Given the description of an element on the screen output the (x, y) to click on. 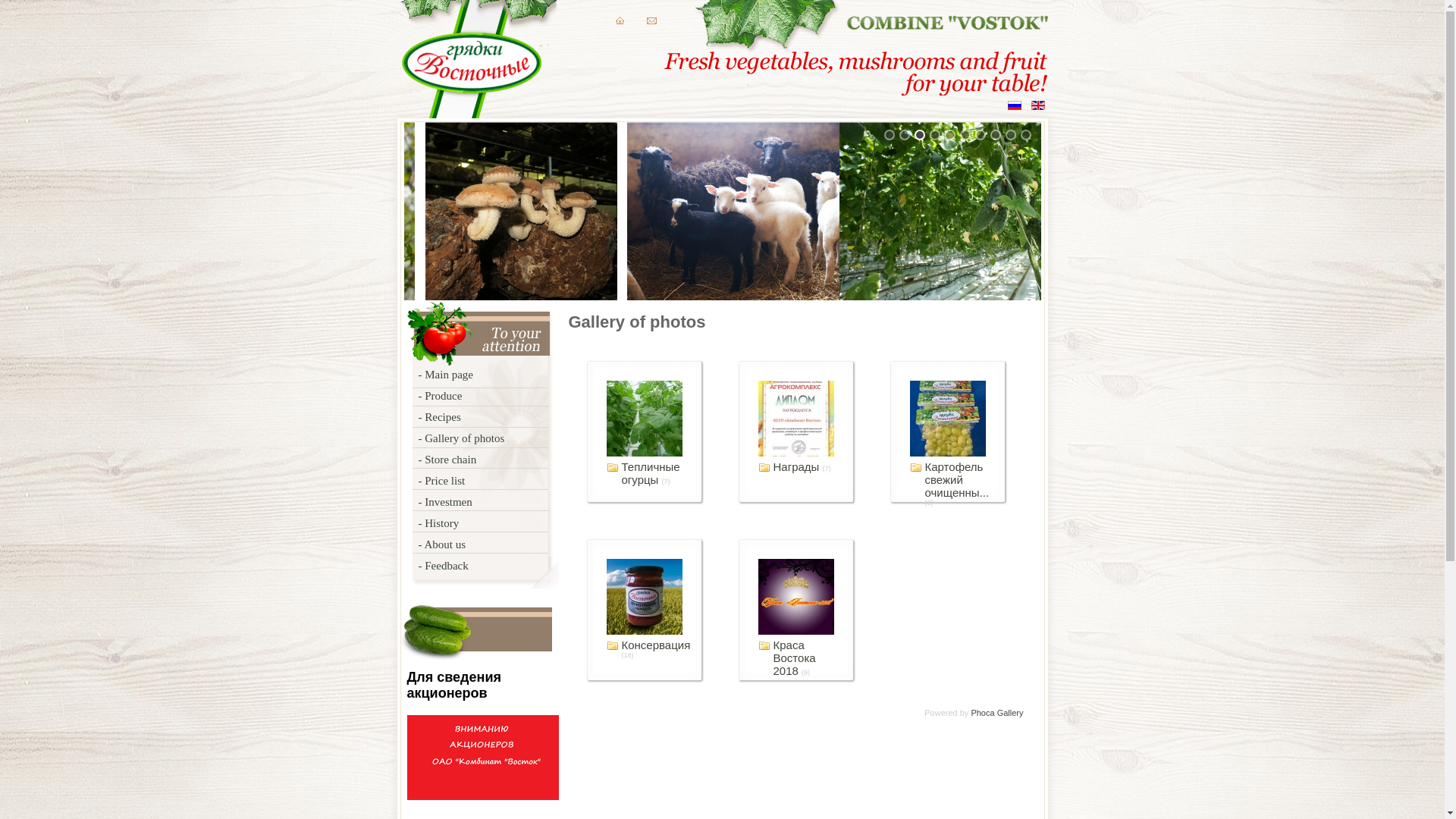
- Investmen Element type: text (501, 501)
- Produce Element type: text (501, 395)
- Store chain Element type: text (501, 459)
- Price list Element type: text (501, 480)
Phoca Gallery Element type: text (996, 712)
- Gallery of photos Element type: text (501, 438)
- Main page Element type: text (501, 374)
- History Element type: text (501, 523)
- Feedback Element type: text (501, 565)
- Recipes Element type: text (501, 417)
- About us Element type: text (501, 544)
English (UK) Element type: hover (1037, 104)
